Given the description of an element on the screen output the (x, y) to click on. 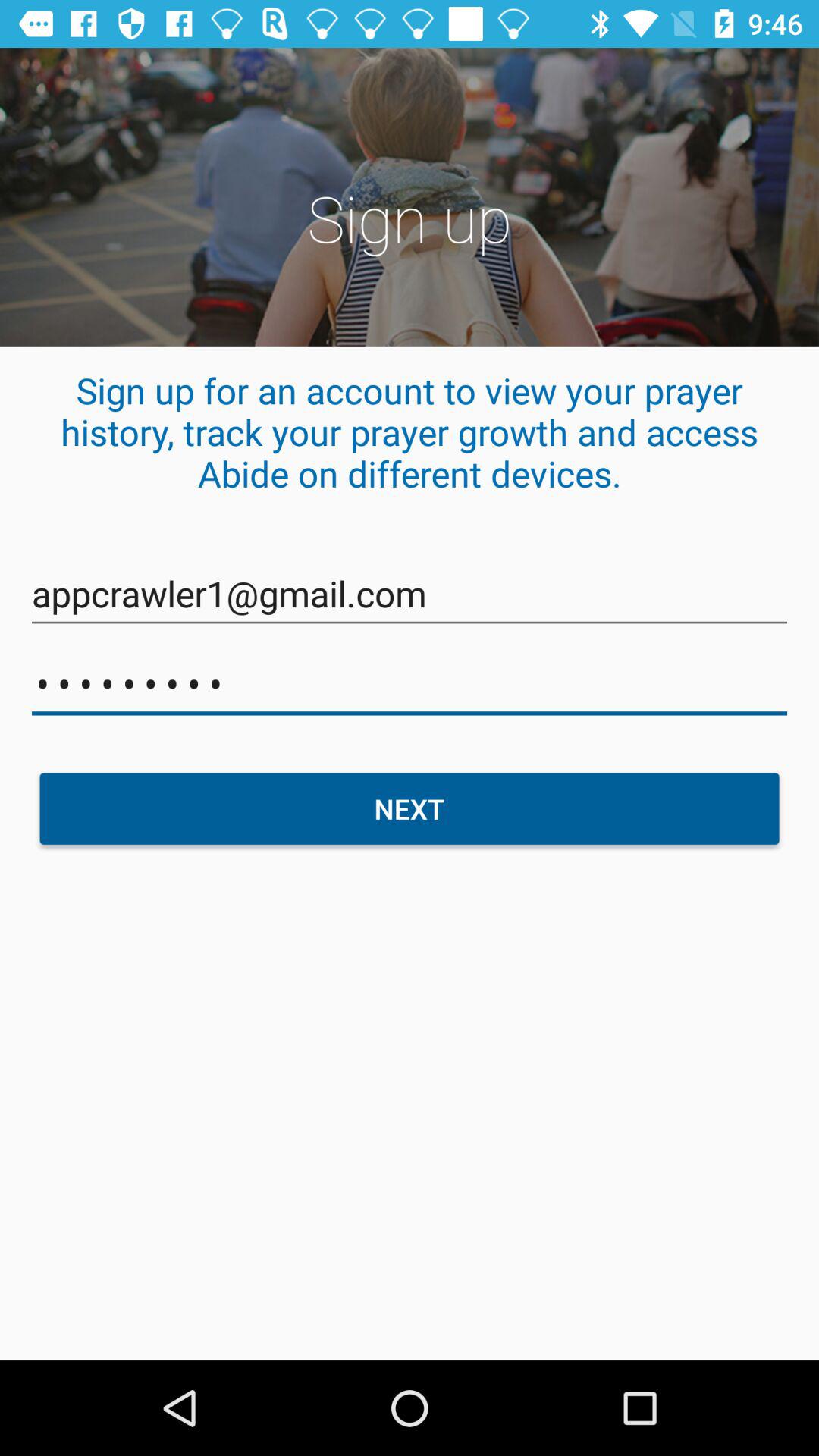
flip to crowd3116 icon (409, 684)
